Given the description of an element on the screen output the (x, y) to click on. 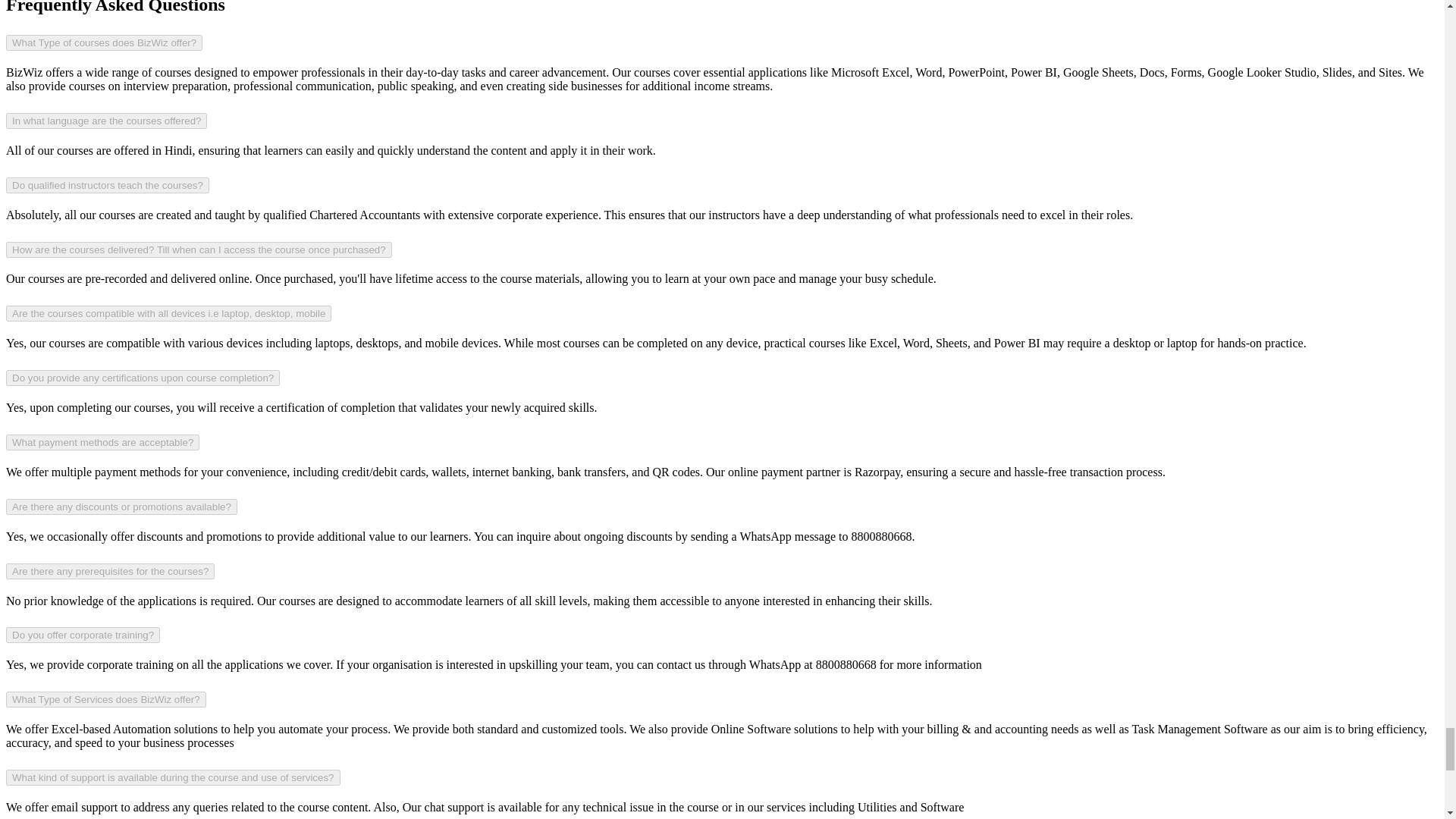
What payment methods are acceptable? (102, 442)
Do qualified instructors teach the courses? (107, 185)
In what language are the courses offered? (105, 120)
Do you provide any certifications upon course completion? (142, 377)
What Type of courses does BizWiz offer? (103, 42)
